Given the description of an element on the screen output the (x, y) to click on. 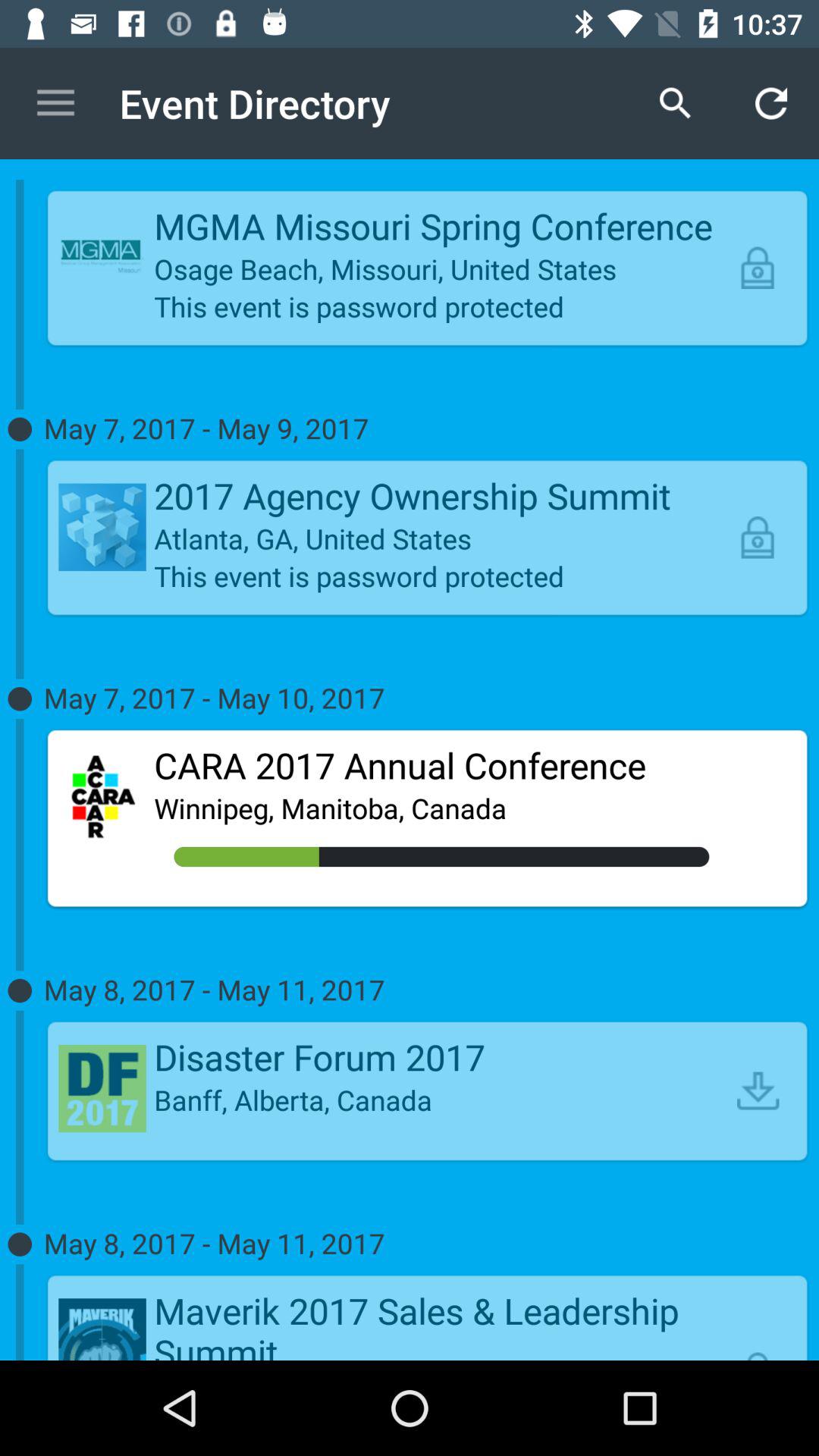
click the icon next to disaster forum 2017 item (758, 1090)
